Given the description of an element on the screen output the (x, y) to click on. 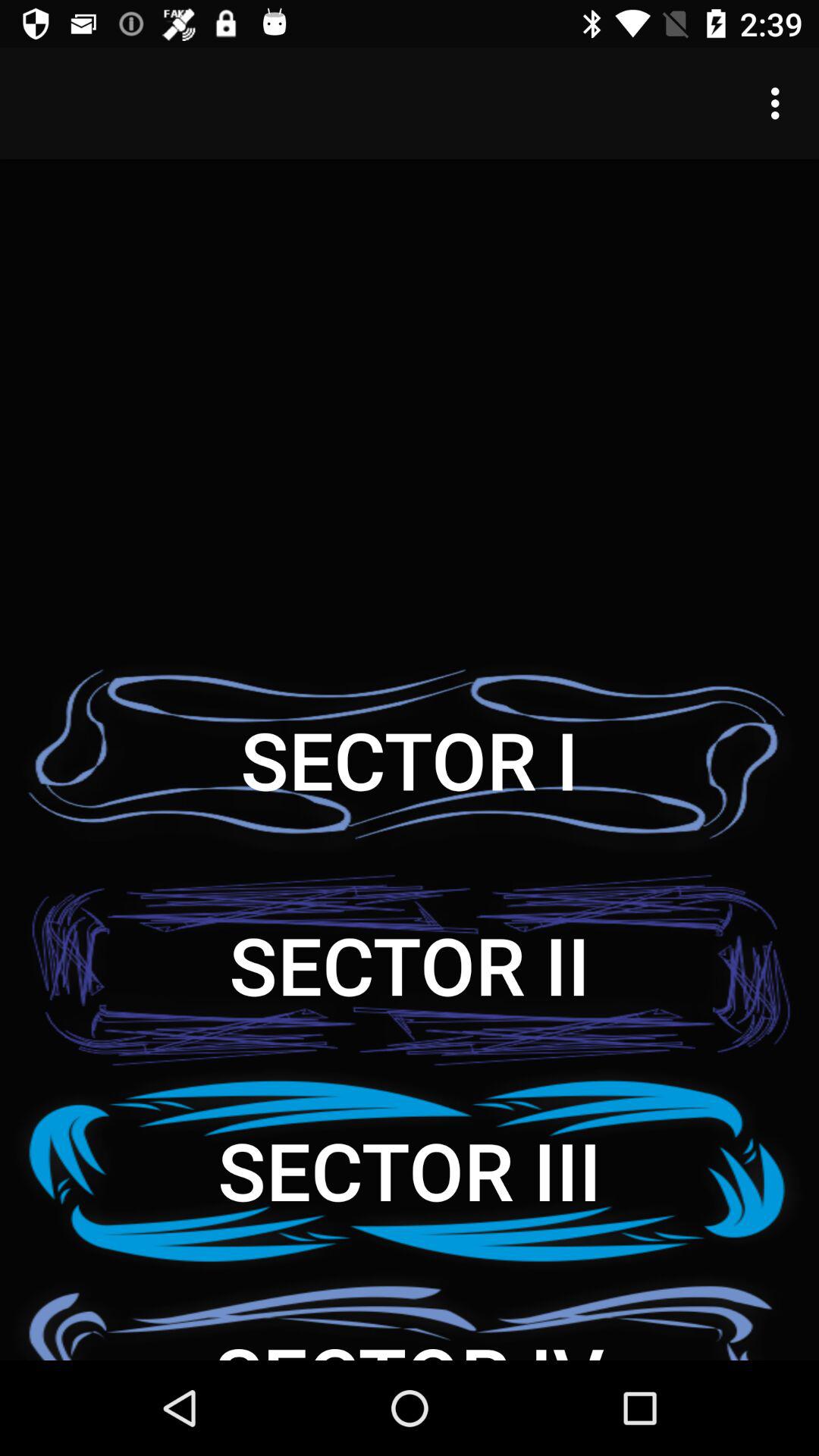
launch icon above the sector iv icon (409, 1169)
